Given the description of an element on the screen output the (x, y) to click on. 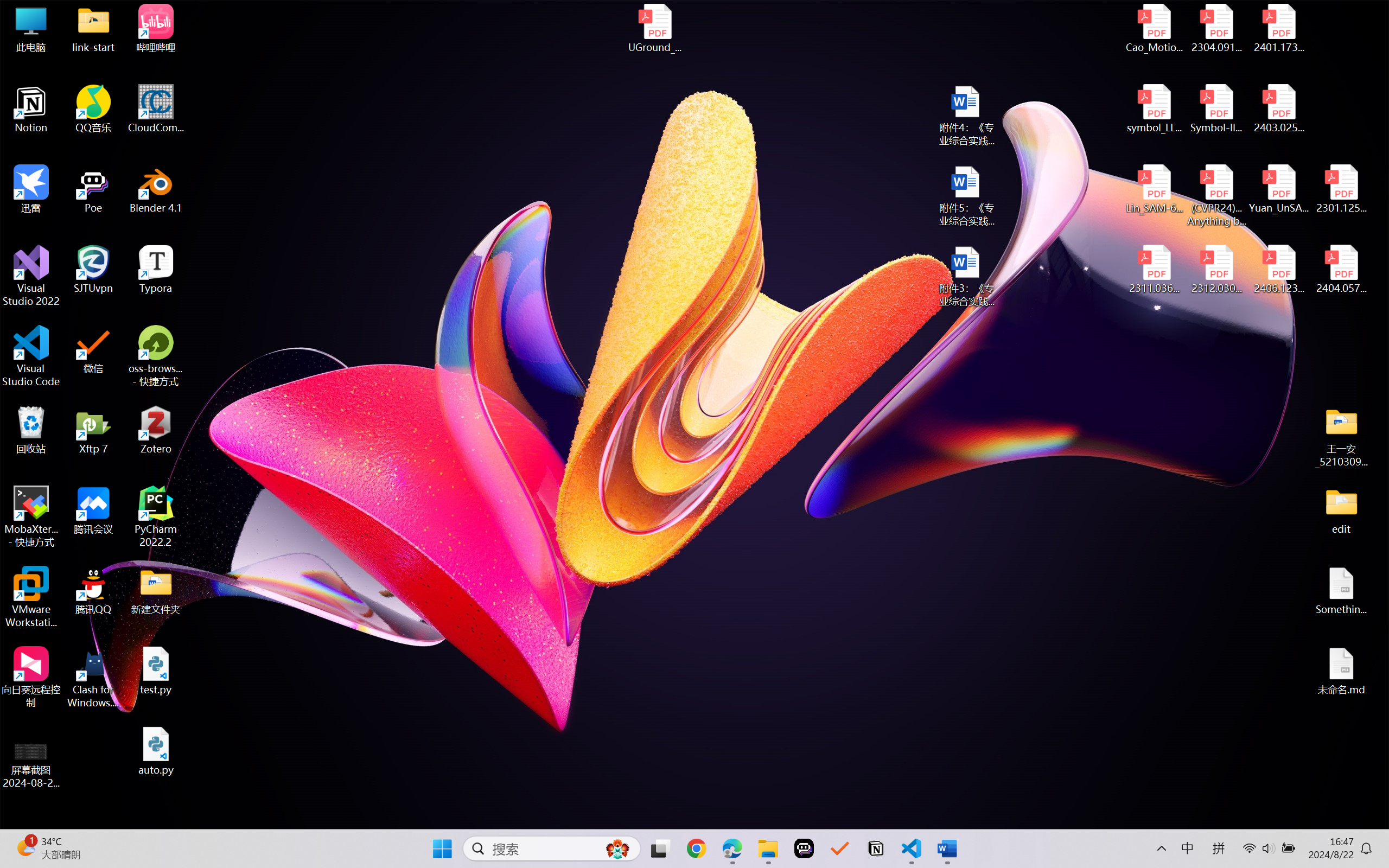
Zoom 44% (1374, 819)
Explain (522, 256)
test.py (564, 57)
